Given the description of an element on the screen output the (x, y) to click on. 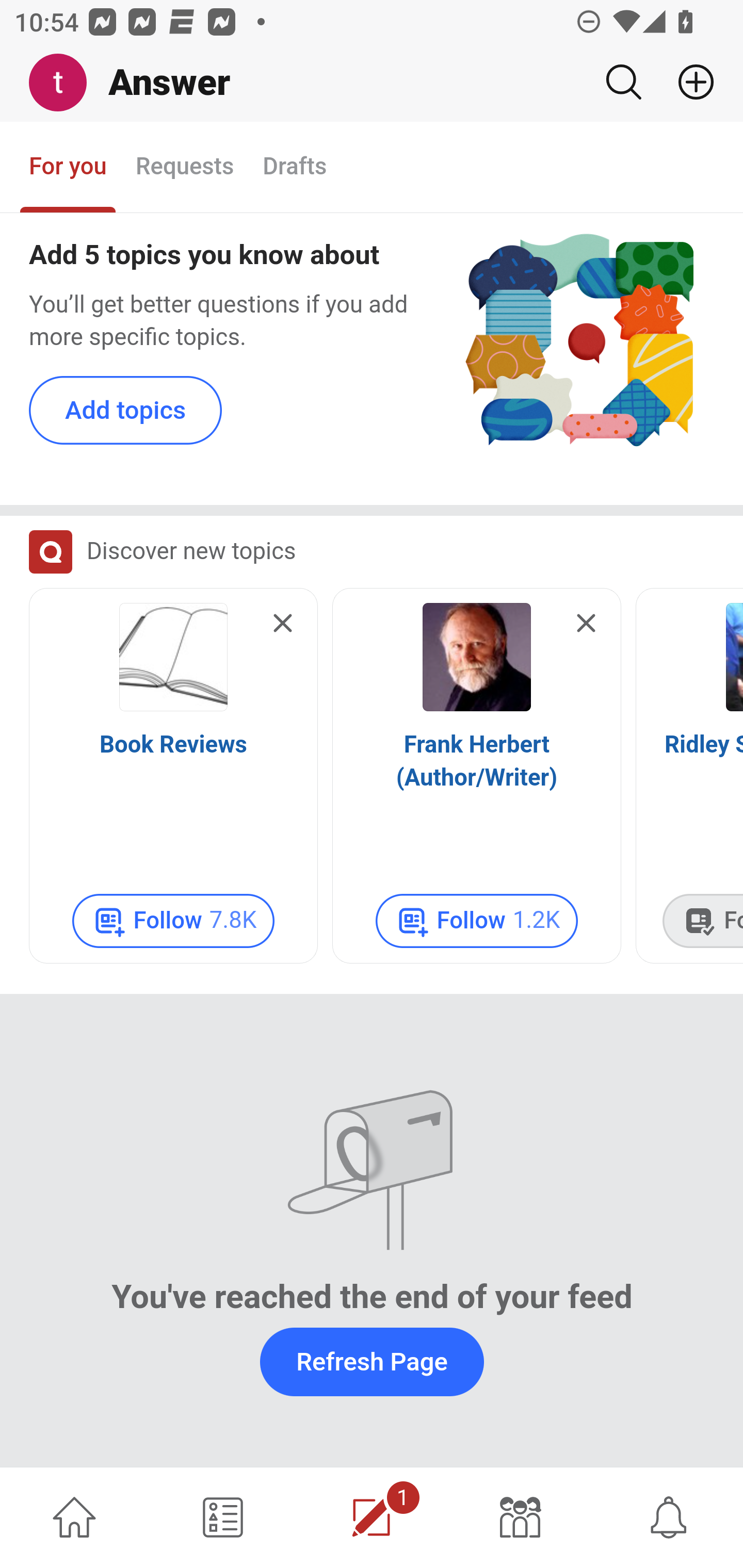
Me (64, 83)
Search (623, 82)
Add (688, 82)
For you (68, 167)
Requests (183, 167)
Drafts (295, 167)
Add topics (125, 411)
Hide this card (282, 624)
Hide this card (585, 624)
Icon for Book Reviews (173, 658)
Icon for Frank Herbert (Author/Writer) (476, 658)
Book Reviews (172, 746)
Frank Herbert (Author/Writer) (476, 762)
Follow 7.8K (172, 921)
Follow 1.2K (476, 921)
Refresh Page (371, 1362)
